Given the description of an element on the screen output the (x, y) to click on. 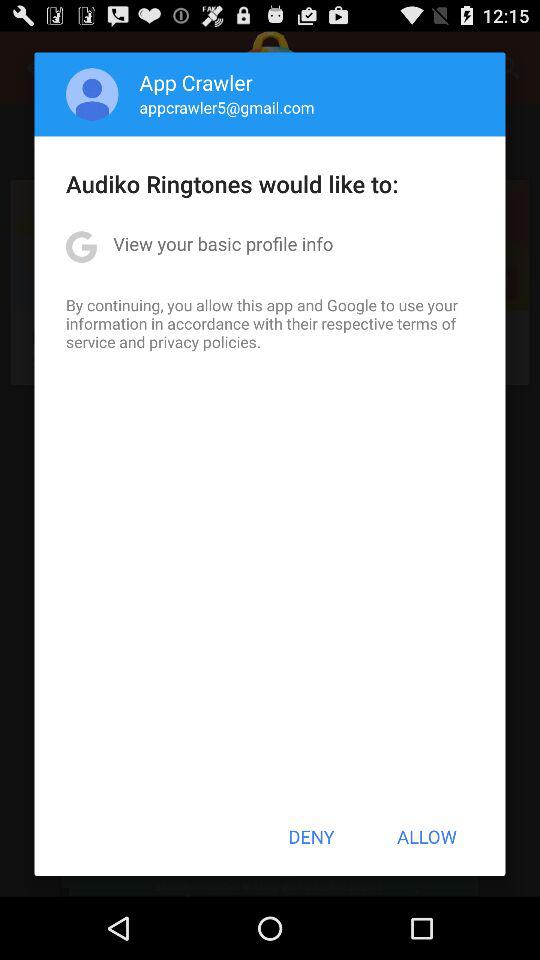
swipe to view your basic item (223, 243)
